Given the description of an element on the screen output the (x, y) to click on. 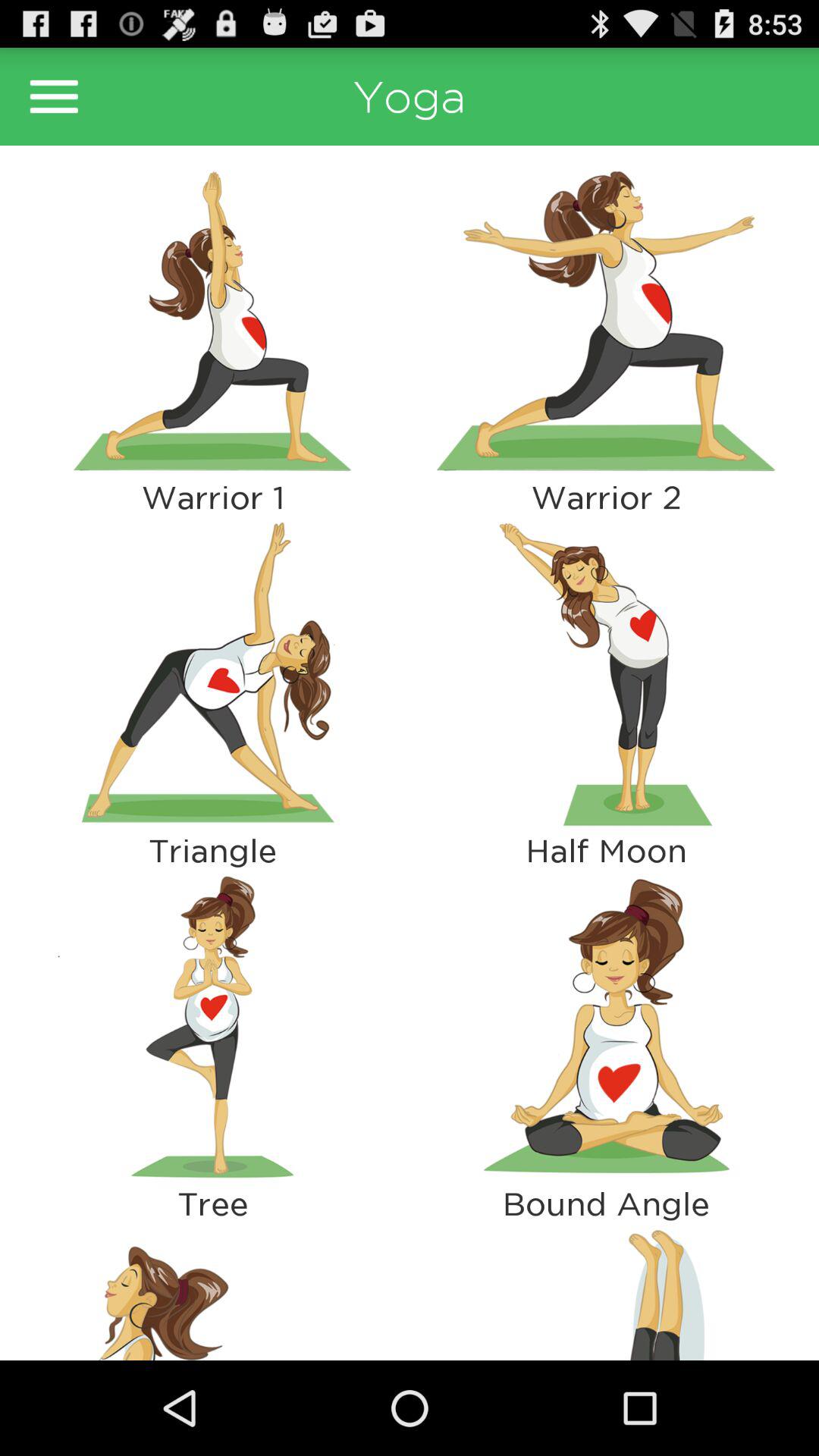
turn on icon to the left of half moon (212, 1026)
